Given the description of an element on the screen output the (x, y) to click on. 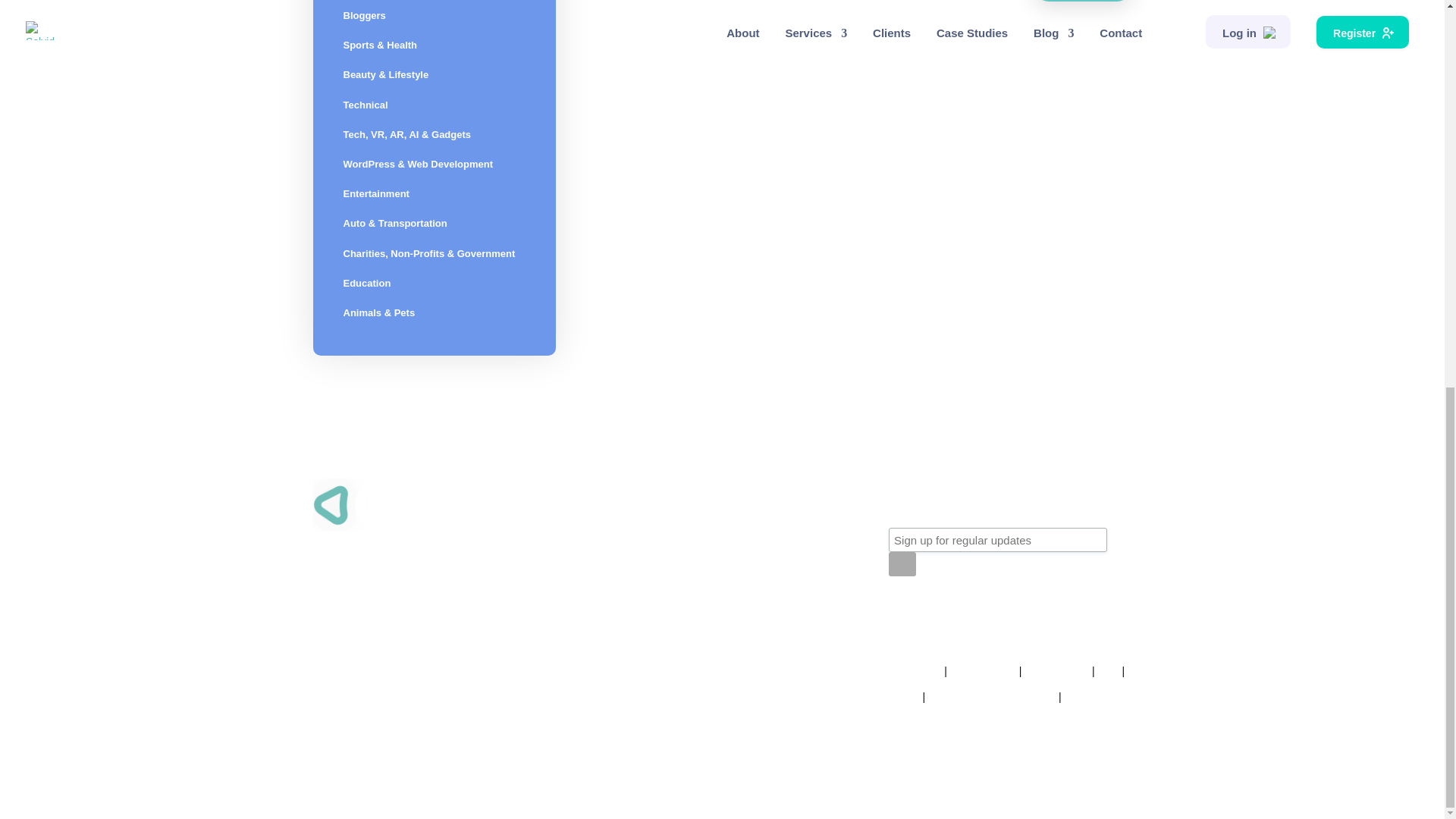
Follow on LinkedIn (991, 618)
Follow on google-plus (961, 618)
Follow on X (930, 618)
Follow on Facebook (900, 618)
Follow on Youtube (1021, 618)
